Given the description of an element on the screen output the (x, y) to click on. 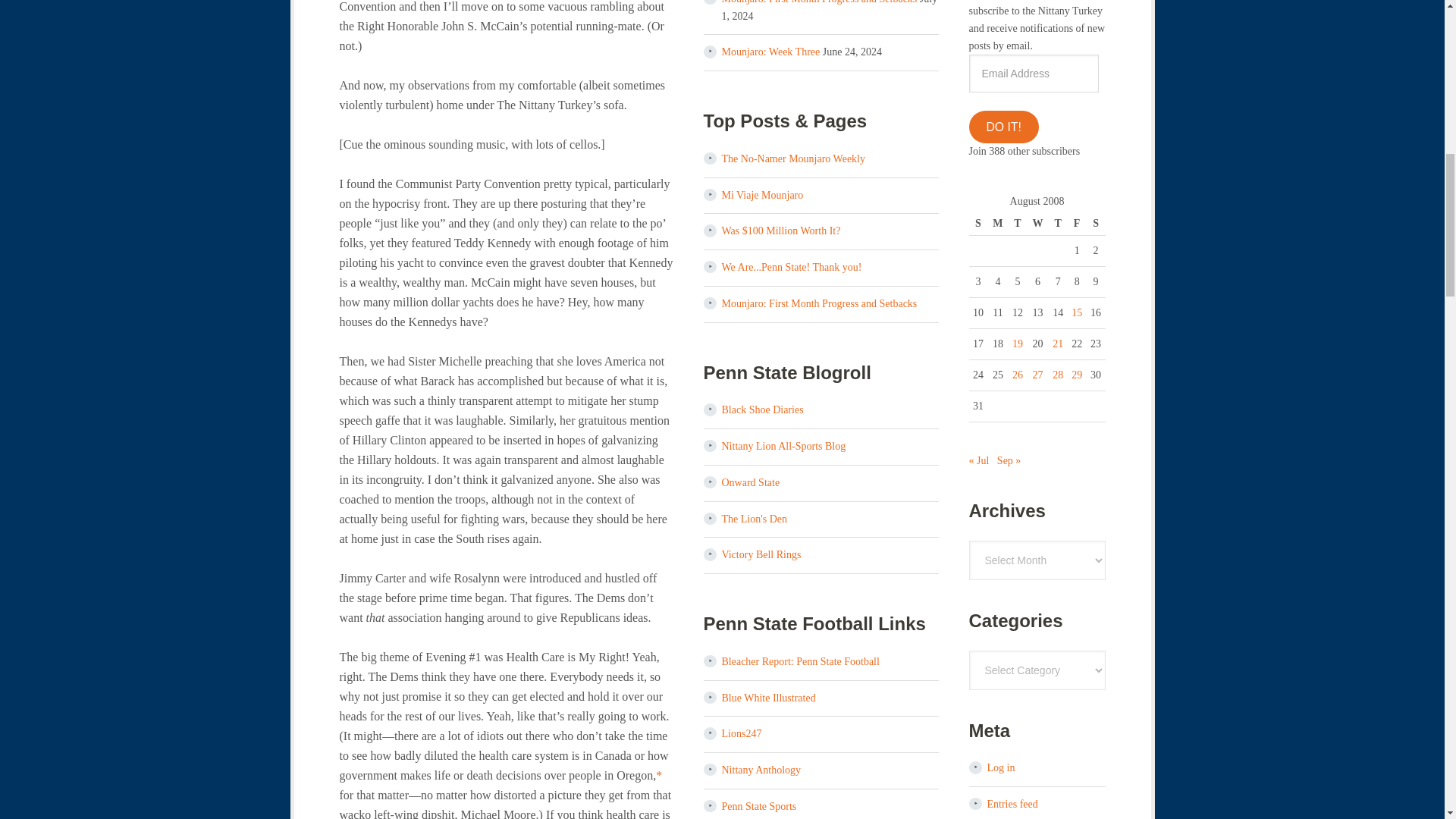
Phil Grosz and company. Commentary about PSU sports. (768, 697)
by Todd Sponsler. (754, 518)
Rocking Happy Valley since 2006. (762, 409)
